Given the description of an element on the screen output the (x, y) to click on. 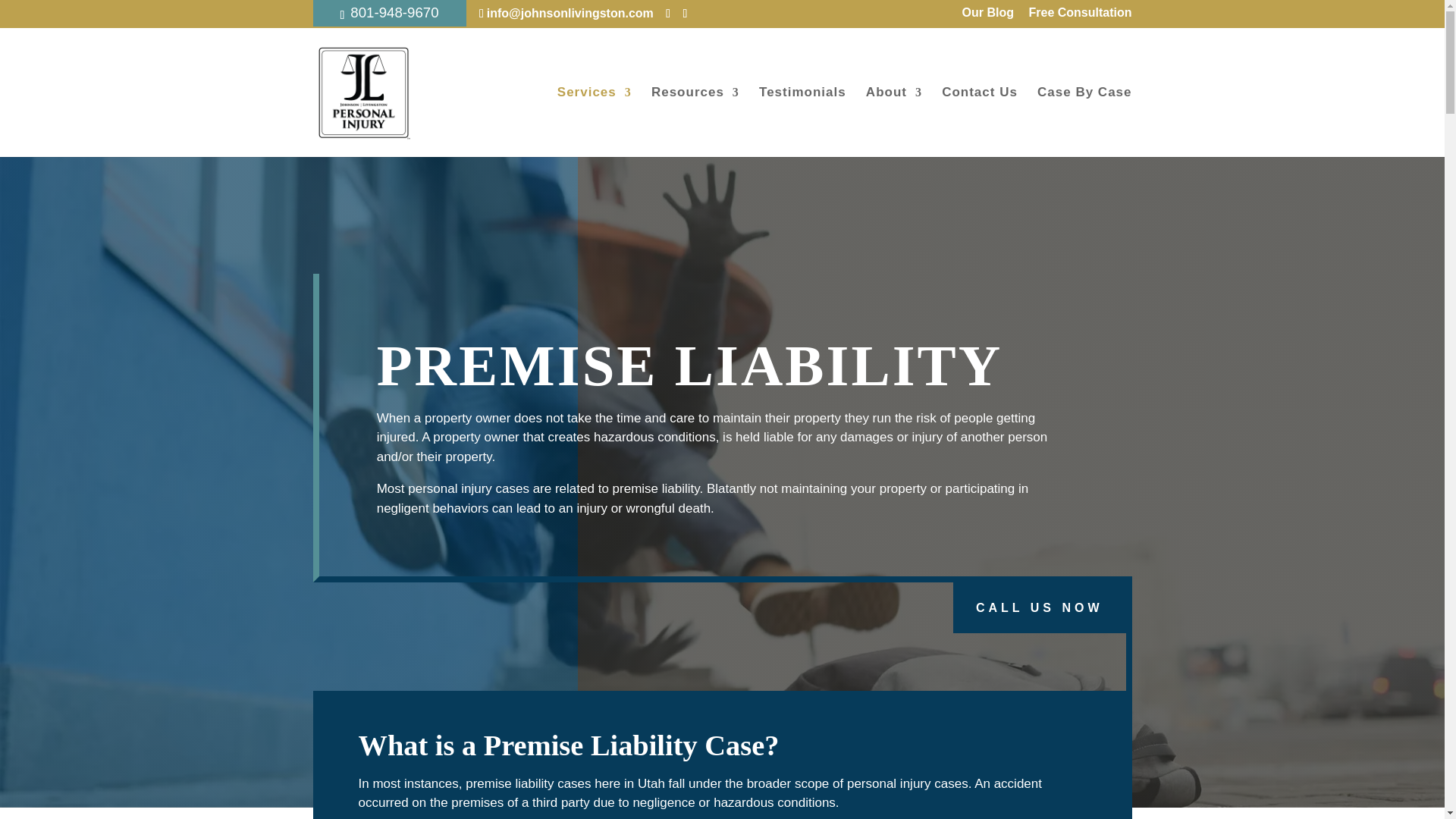
Testimonials (801, 121)
Services (594, 121)
801-948-9670 (394, 12)
Our Blog (987, 16)
Contact Us (979, 121)
Free Consultation (1079, 16)
Resources (694, 121)
